Given the description of an element on the screen output the (x, y) to click on. 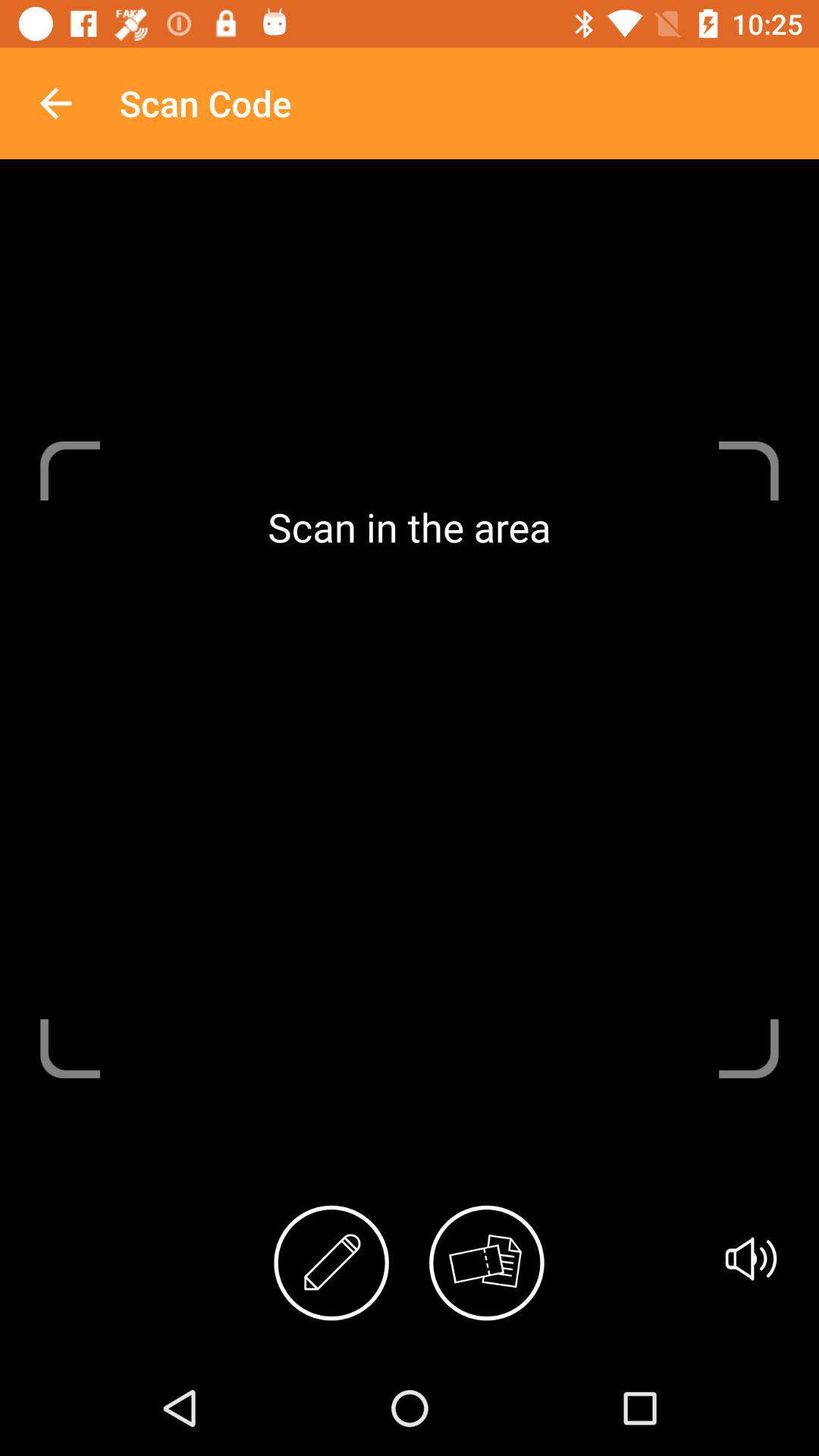
select item below the scan in the item (331, 1262)
